Given the description of an element on the screen output the (x, y) to click on. 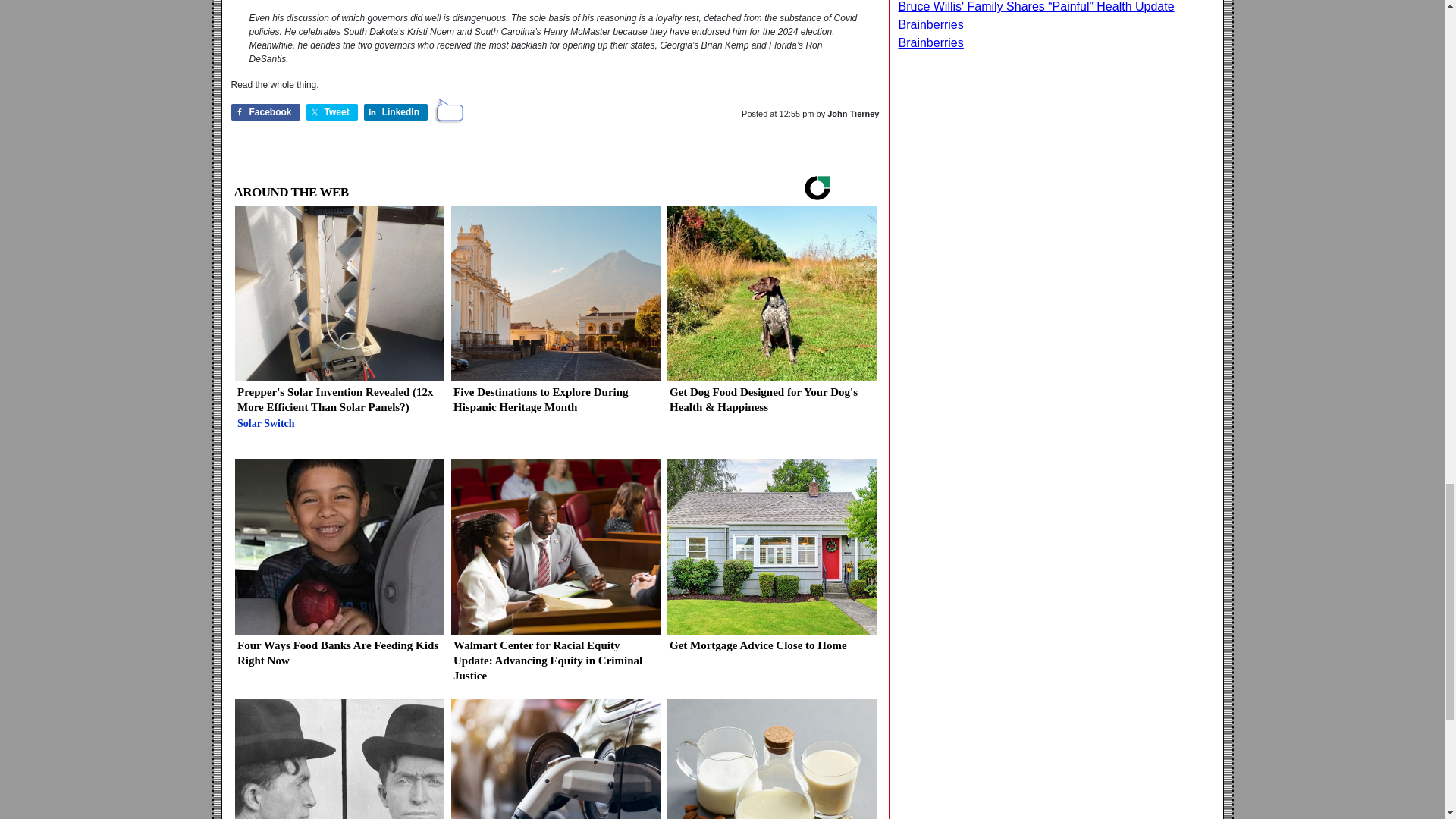
Share on LinkedIn (396, 112)
Five Destinations to Explore During Hispanic Heritage Month (554, 315)
LinkedIn (396, 112)
Should You Buy an Electric Car? (554, 759)
Four Ways Food Banks Are Feeding Kids Right Now (338, 568)
Should You Buy an Electric Car? (554, 759)
Five Destinations to Explore During Hispanic Heritage Month (554, 315)
Get Mortgage Advice Close to Home (770, 561)
John Tierney (853, 112)
Share on Twitter (331, 112)
Share on Facebook (264, 112)
Nine Kinds of Ancestors You Could Find on Your Family Tree (338, 759)
